Given the description of an element on the screen output the (x, y) to click on. 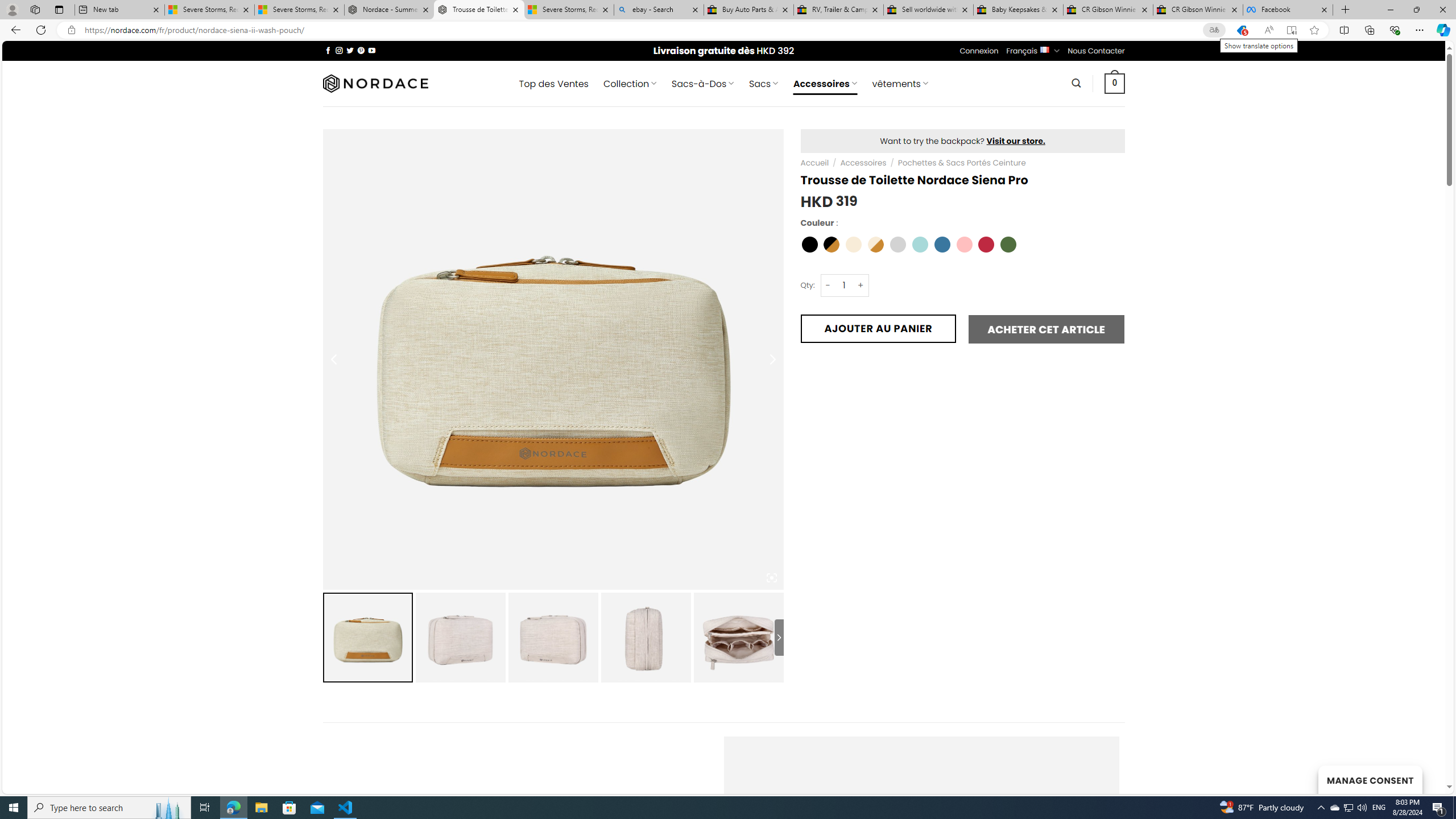
Trousse de Toilette Nordace Siena Pro (738, 637)
Sell worldwide with eBay (928, 9)
